Given the description of an element on the screen output the (x, y) to click on. 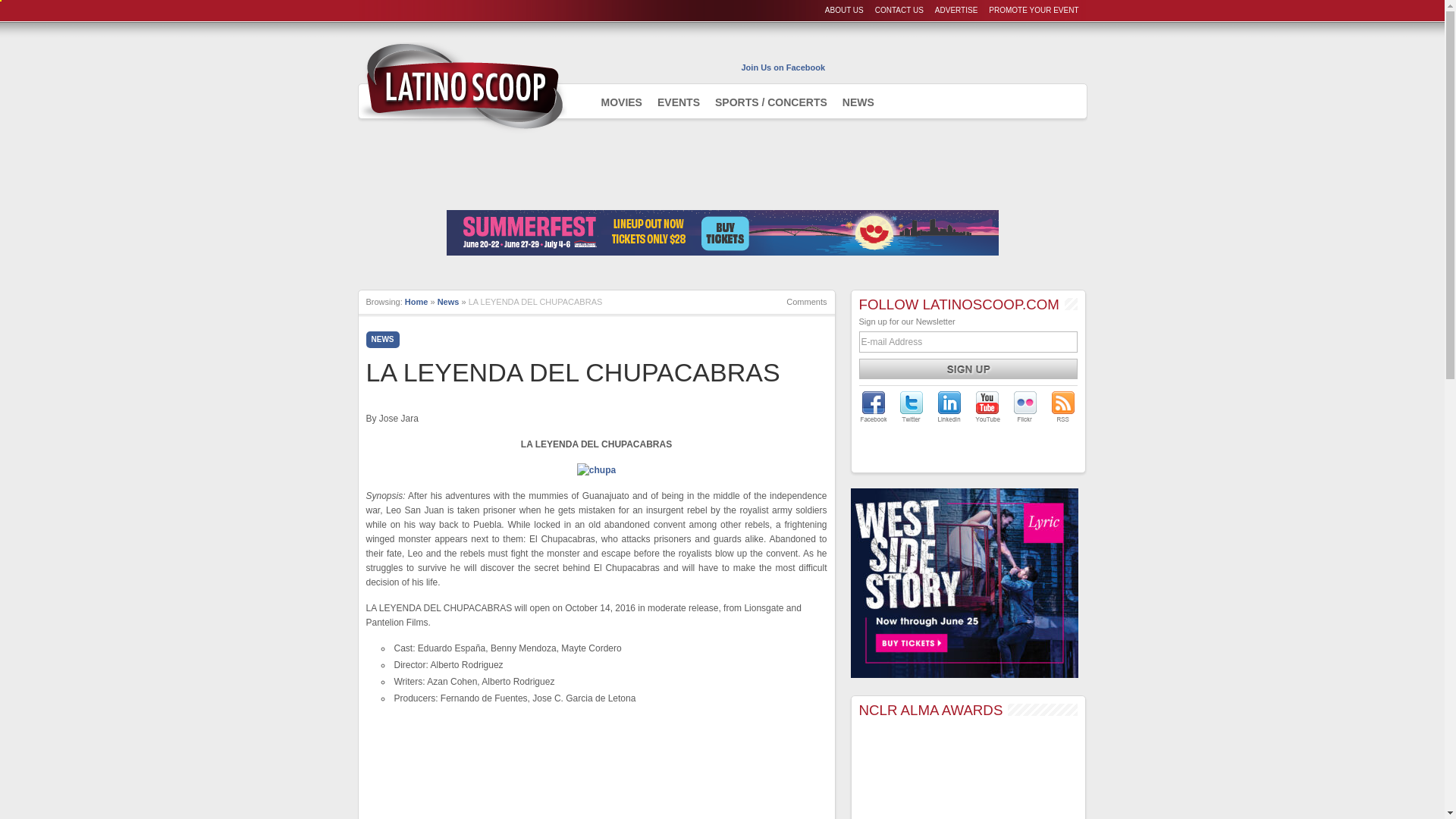
MOVIES (620, 102)
E-mail Address (968, 341)
PROMOTE YOUR EVENT (1033, 9)
AdmiteUno - Chicago (462, 86)
Return to the Home Page (416, 301)
Advertise (956, 9)
Comments (800, 301)
Promote Your Event (1033, 9)
 Subscribe  (968, 368)
News (449, 301)
